Given the description of an element on the screen output the (x, y) to click on. 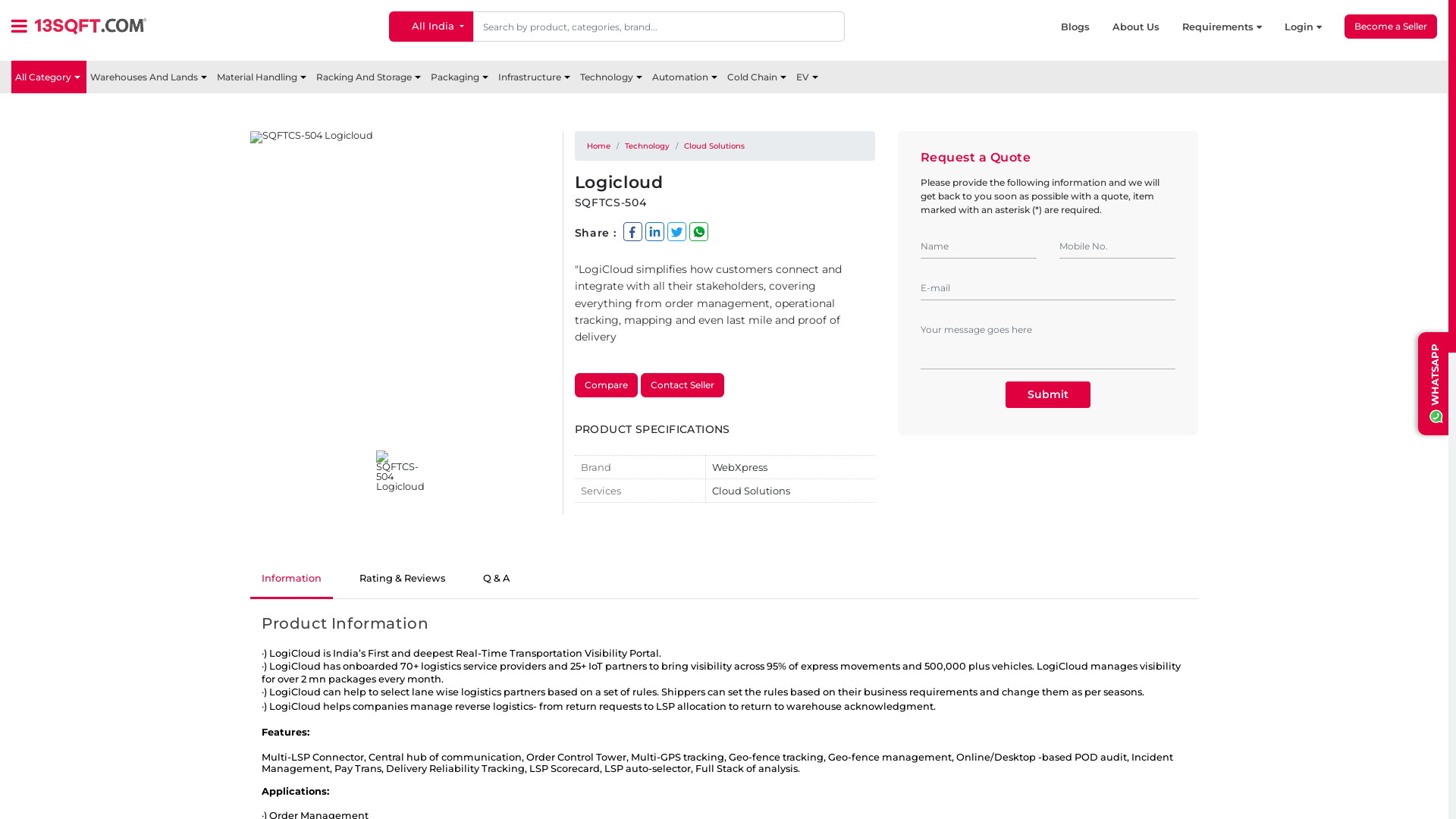
Compare Element type: text (605, 385)
Submit Element type: text (1047, 394)
Packaging Element type: text (460, 76)
All Category Element type: text (48, 76)
Q & A Element type: text (495, 579)
Cold Chain Element type: text (757, 76)
Racking And Storage Element type: text (369, 76)
Material Handling Element type: text (262, 76)
EV Element type: text (808, 76)
Infrastructure Element type: text (535, 76)
Contact Seller Element type: text (682, 385)
Automation Element type: text (685, 76)
Technology Element type: text (612, 76)
About Us Element type: text (1147, 26)
Blogs Element type: text (1086, 26)
Requirements Element type: text (1233, 26)
Login Element type: text (1314, 26)
Cloud Solutions Element type: text (714, 145)
Warehouses And Lands Element type: text (149, 76)
Technology Element type: text (646, 145)
Rating & Reviews Element type: text (402, 579)
All India
  Element type: text (431, 26)
Become a Seller Element type: text (1390, 26)
Home Element type: text (598, 145)
Information Element type: text (291, 579)
